Given the description of an element on the screen output the (x, y) to click on. 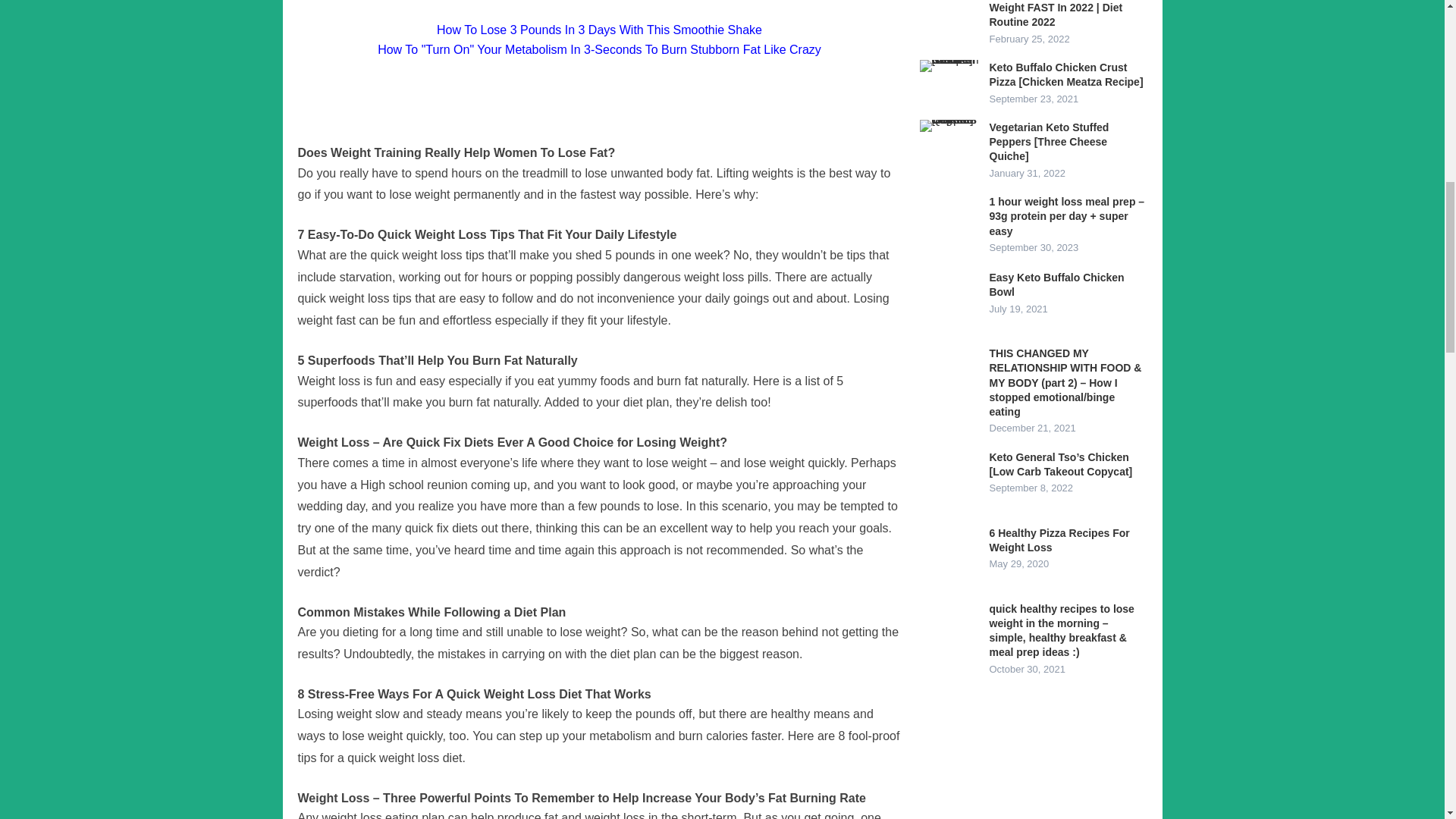
6 Healthy Pizza Recipes For Weight Loss 21 (948, 555)
Easy Keto Buffalo Chicken Bowl 18 (948, 300)
How To Lose 3 Pounds In 3 Days With This Smoothie Shake (598, 29)
